Given the description of an element on the screen output the (x, y) to click on. 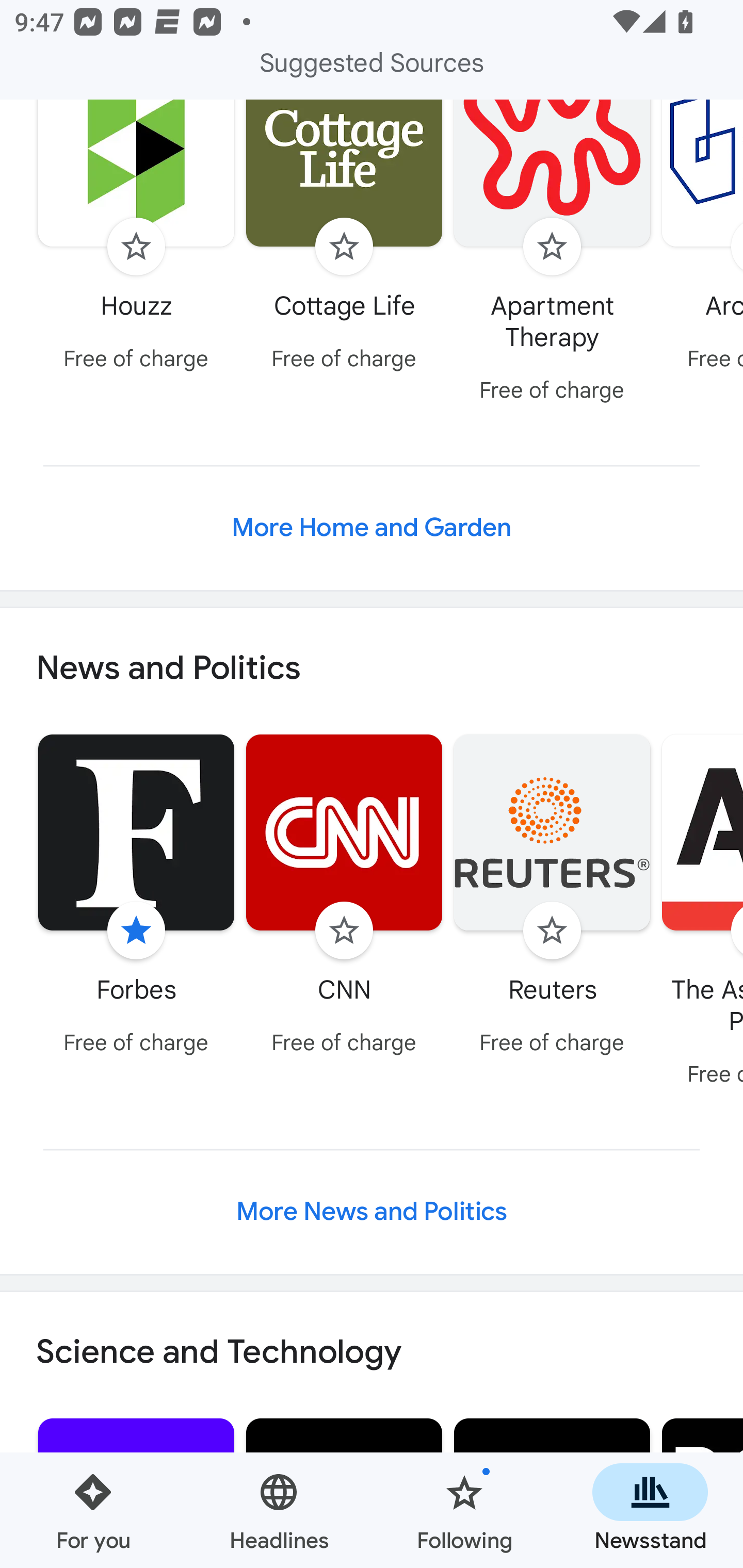
Follow Houzz Free of charge (136, 240)
Follow Cottage Life Free of charge (344, 240)
Follow Apartment Therapy Free of charge (552, 255)
Follow (135, 246)
Follow (343, 246)
Follow (552, 246)
More Home and Garden (371, 527)
News and Politics (371, 668)
Unfollow Forbes Free of charge (136, 897)
Follow CNN Free of charge (344, 897)
Follow Reuters Free of charge (552, 897)
Unfollow (135, 930)
Follow (343, 930)
Follow (552, 930)
More News and Politics (371, 1211)
Science and Technology (371, 1352)
For you (92, 1509)
Headlines (278, 1509)
Following (464, 1509)
Newsstand (650, 1509)
